Given the description of an element on the screen output the (x, y) to click on. 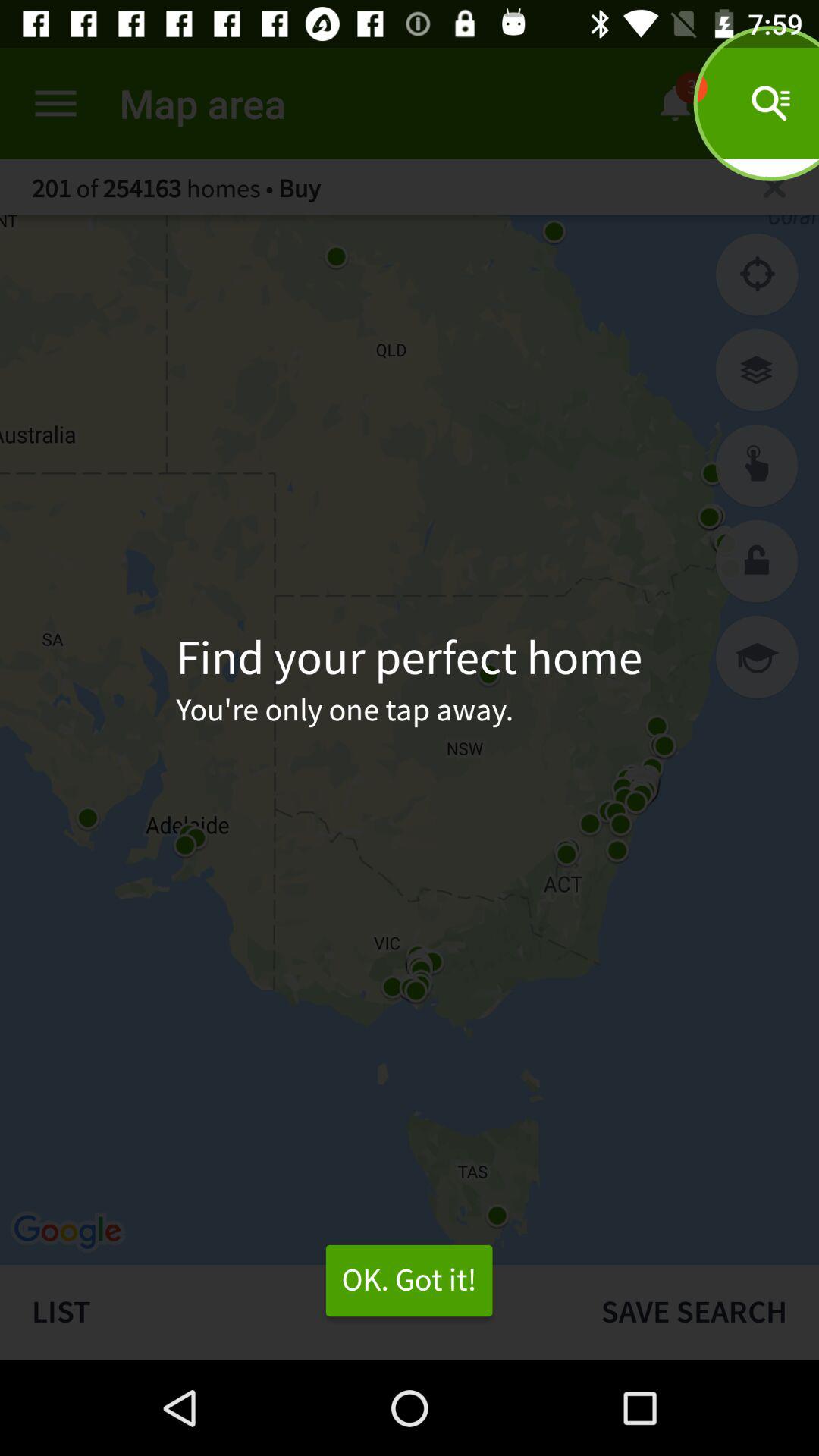
tap item above the save search icon (756, 656)
